Given the description of an element on the screen output the (x, y) to click on. 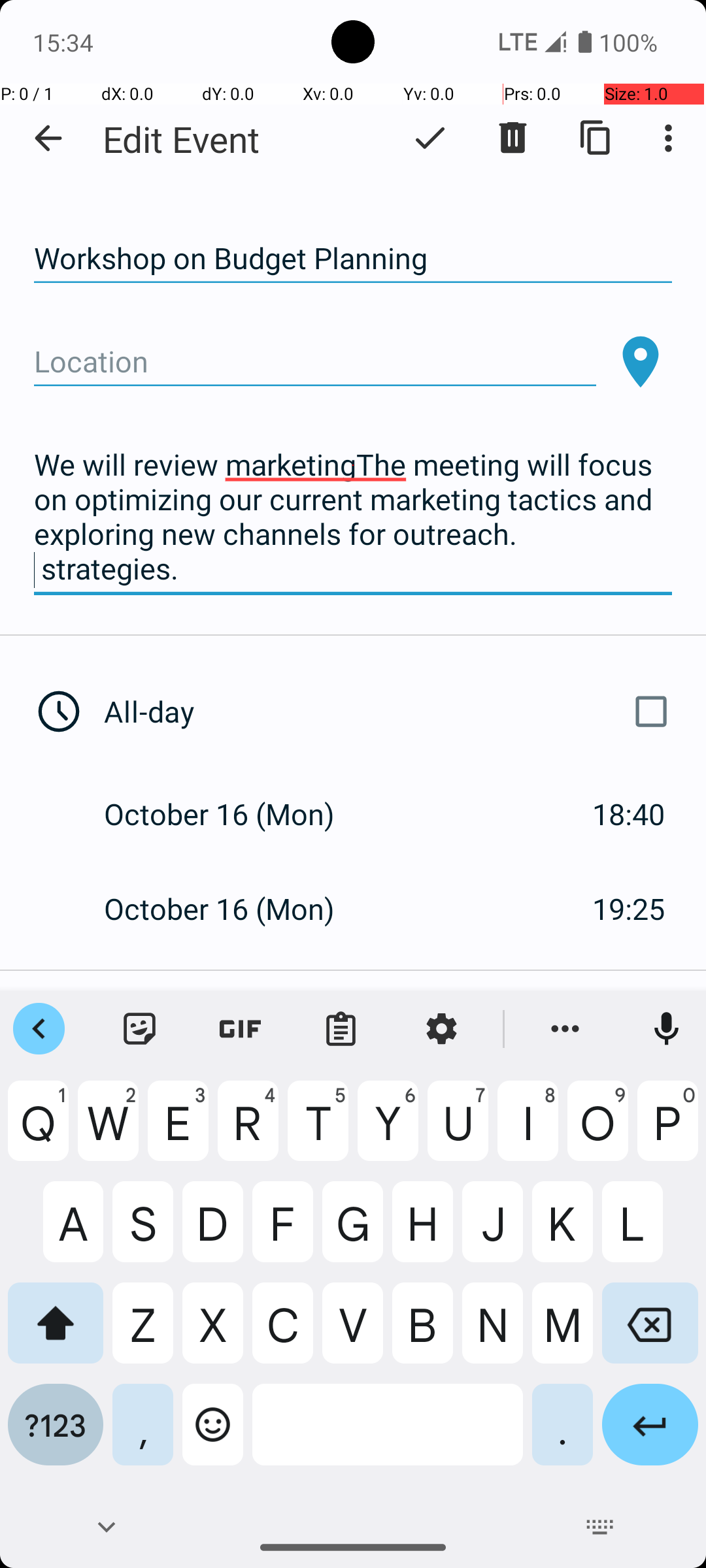
We will review marketingThe meeting will focus on optimizing our current marketing tactics and exploring new channels for outreach.
 strategies. Element type: android.widget.EditText (352, 516)
18:40 Element type: android.widget.TextView (628, 813)
19:25 Element type: android.widget.TextView (628, 908)
